Given the description of an element on the screen output the (x, y) to click on. 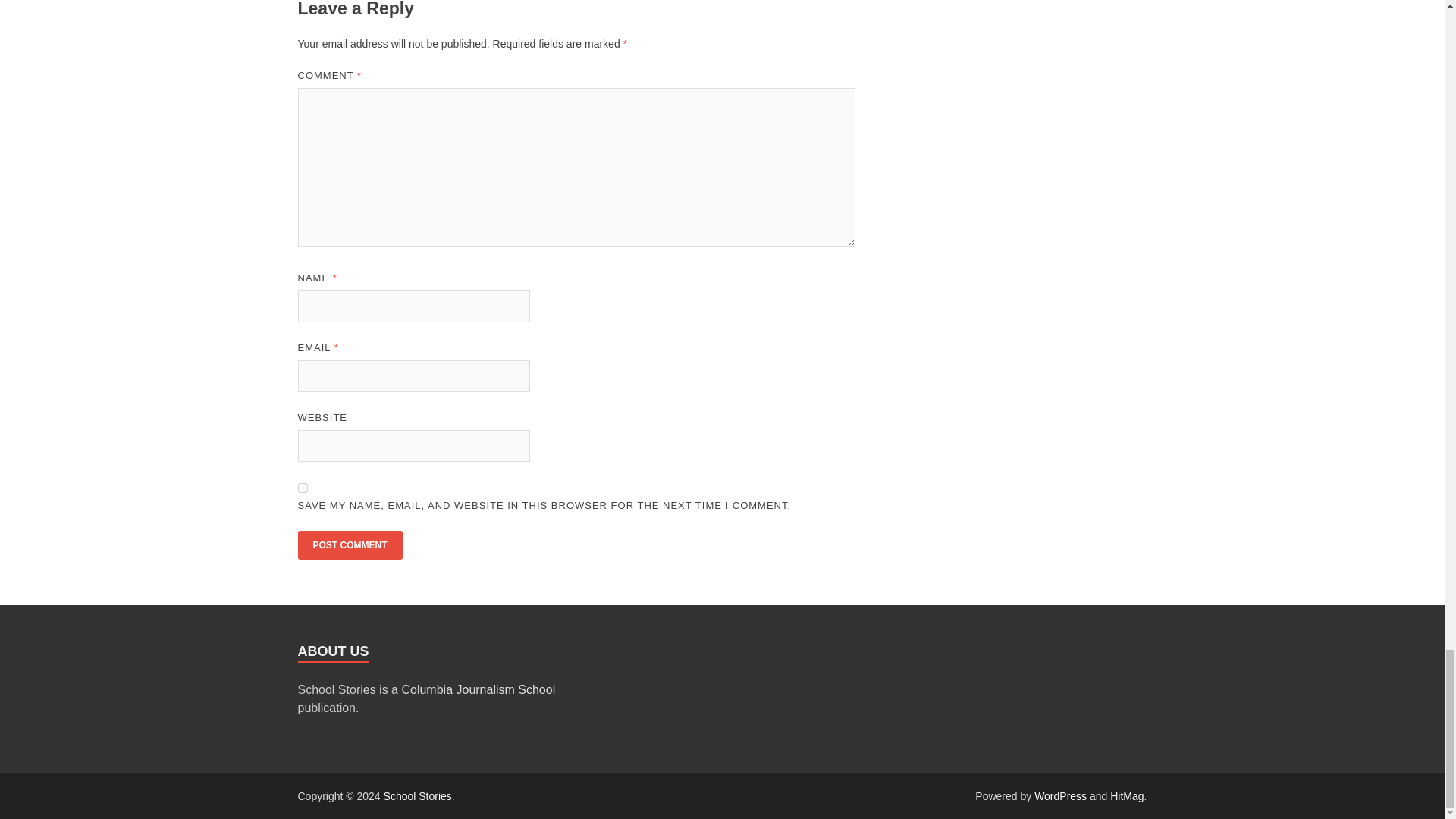
Post Comment (349, 544)
HitMag WordPress Theme (1125, 796)
School Stories (417, 796)
WordPress (1059, 796)
yes (302, 488)
